Given the description of an element on the screen output the (x, y) to click on. 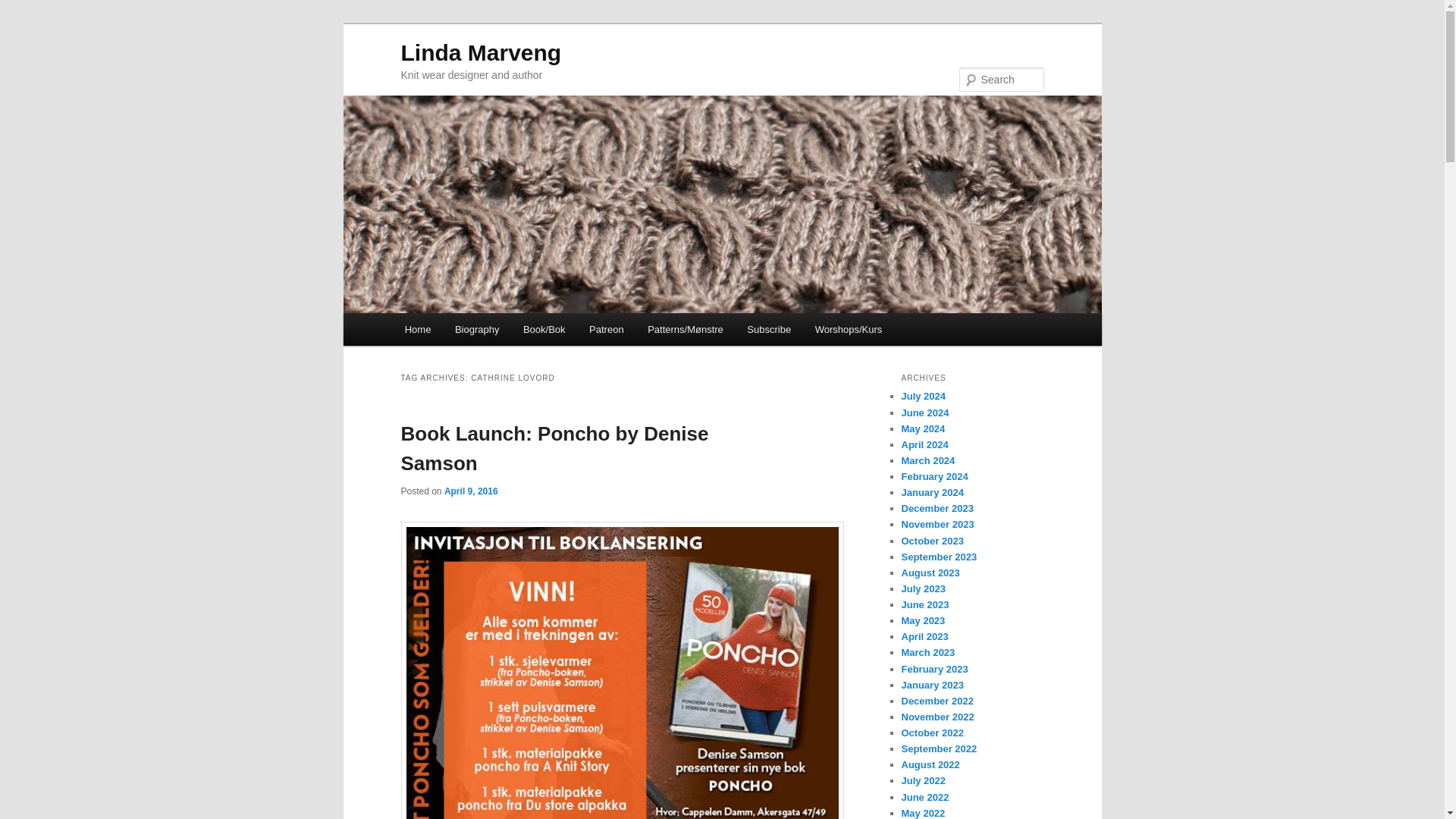
Linda Marveng (480, 52)
Book Launch: Poncho by Denise Samson (553, 448)
Home (417, 328)
Patreon (605, 328)
Biography (476, 328)
April 9, 2016 (470, 491)
Search (24, 8)
Subscribe (769, 328)
6:38 am (470, 491)
